Given the description of an element on the screen output the (x, y) to click on. 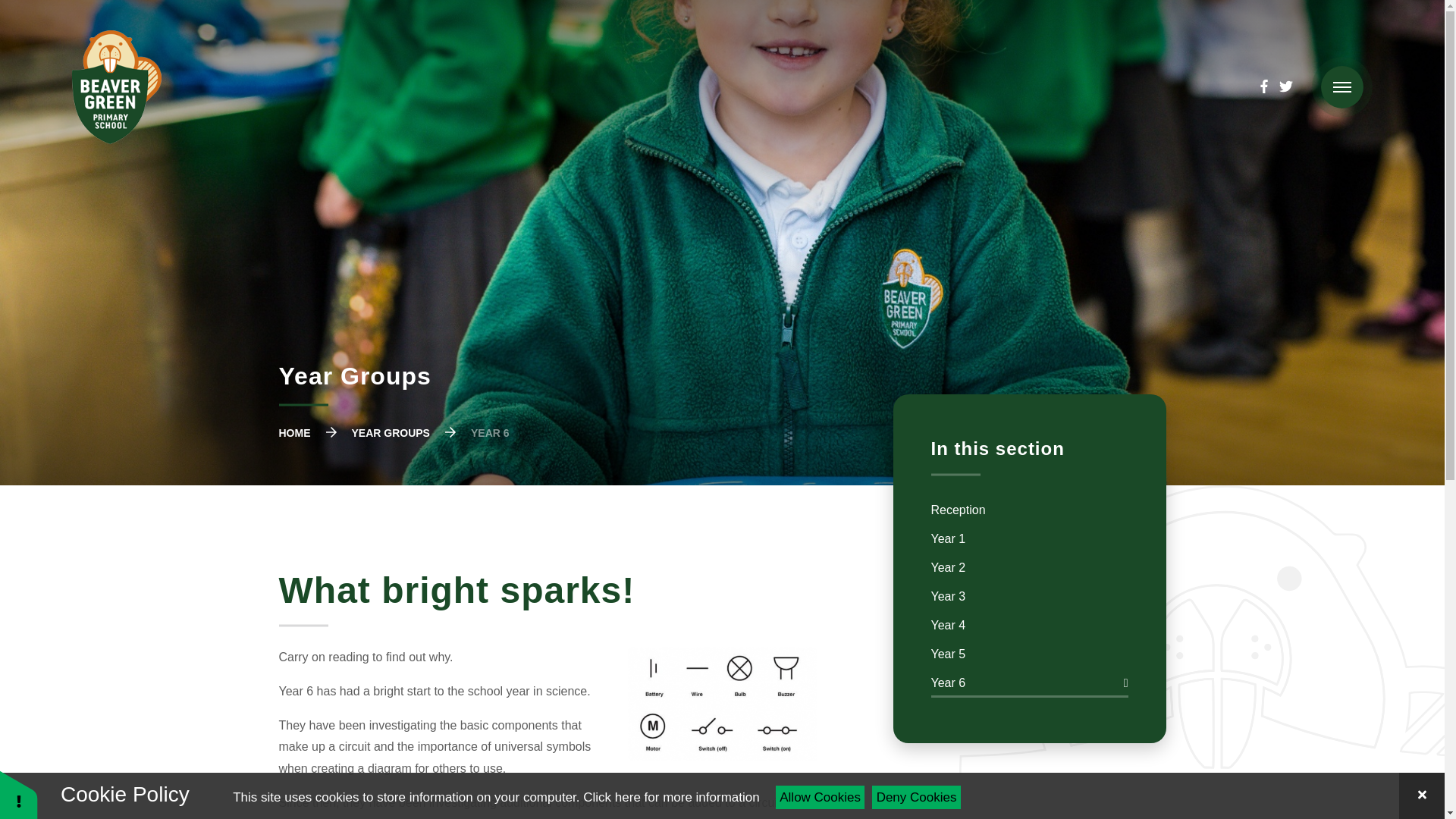
Deny Cookies (915, 797)
Allow Cookies (820, 797)
See cookie policy (670, 797)
